Given the description of an element on the screen output the (x, y) to click on. 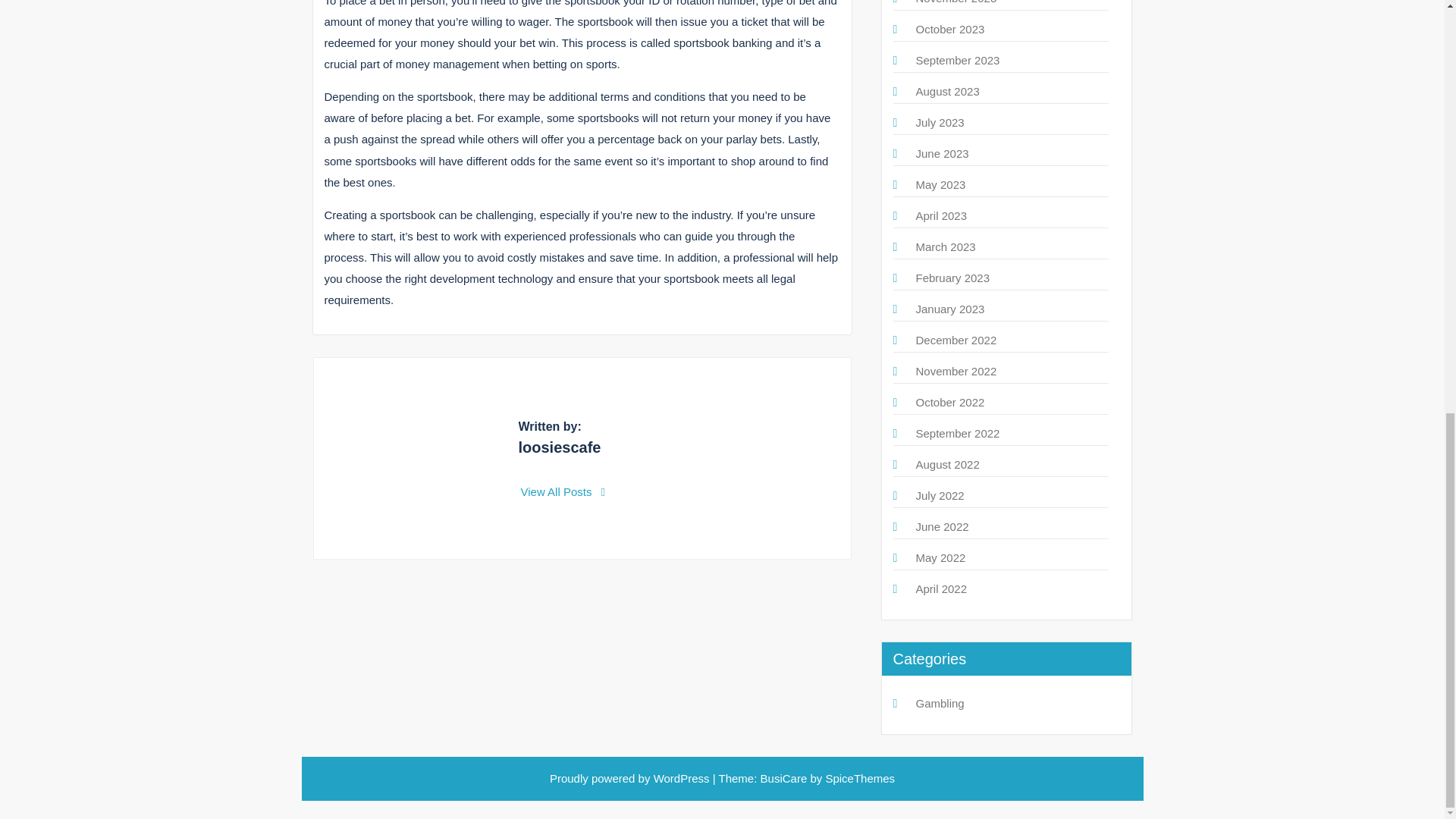
May 2022 (940, 557)
April 2022 (941, 588)
February 2023 (952, 277)
September 2022 (957, 432)
January 2023 (950, 308)
June 2023 (942, 153)
September 2023 (957, 60)
October 2022 (950, 401)
November 2023 (956, 2)
View All Posts (562, 491)
June 2022 (942, 526)
December 2022 (956, 339)
May 2023 (940, 184)
March 2023 (945, 246)
July 2023 (939, 122)
